Given the description of an element on the screen output the (x, y) to click on. 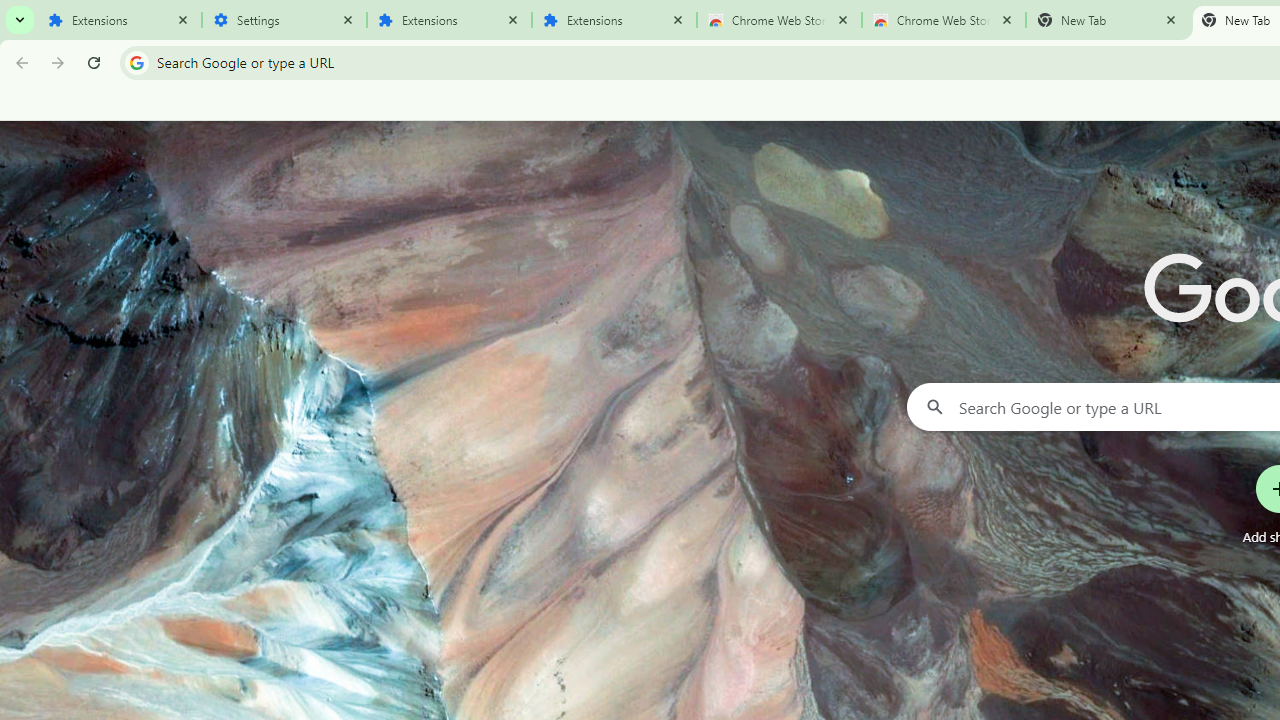
Chrome Web Store (779, 20)
Extensions (614, 20)
Search icon (136, 62)
Chrome Web Store - Themes (943, 20)
Extensions (449, 20)
Settings (284, 20)
New Tab (1108, 20)
Extensions (119, 20)
